Given the description of an element on the screen output the (x, y) to click on. 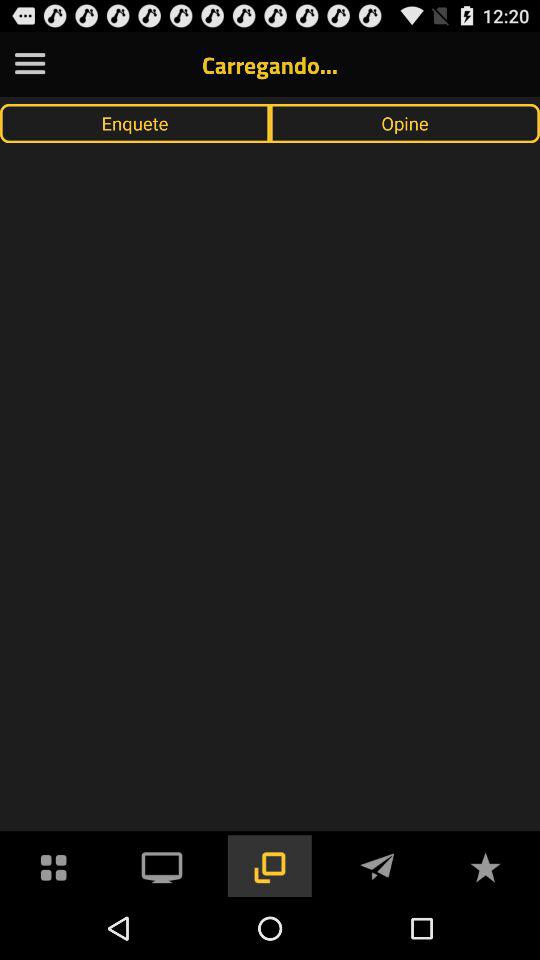
open the side menu (29, 64)
